Given the description of an element on the screen output the (x, y) to click on. 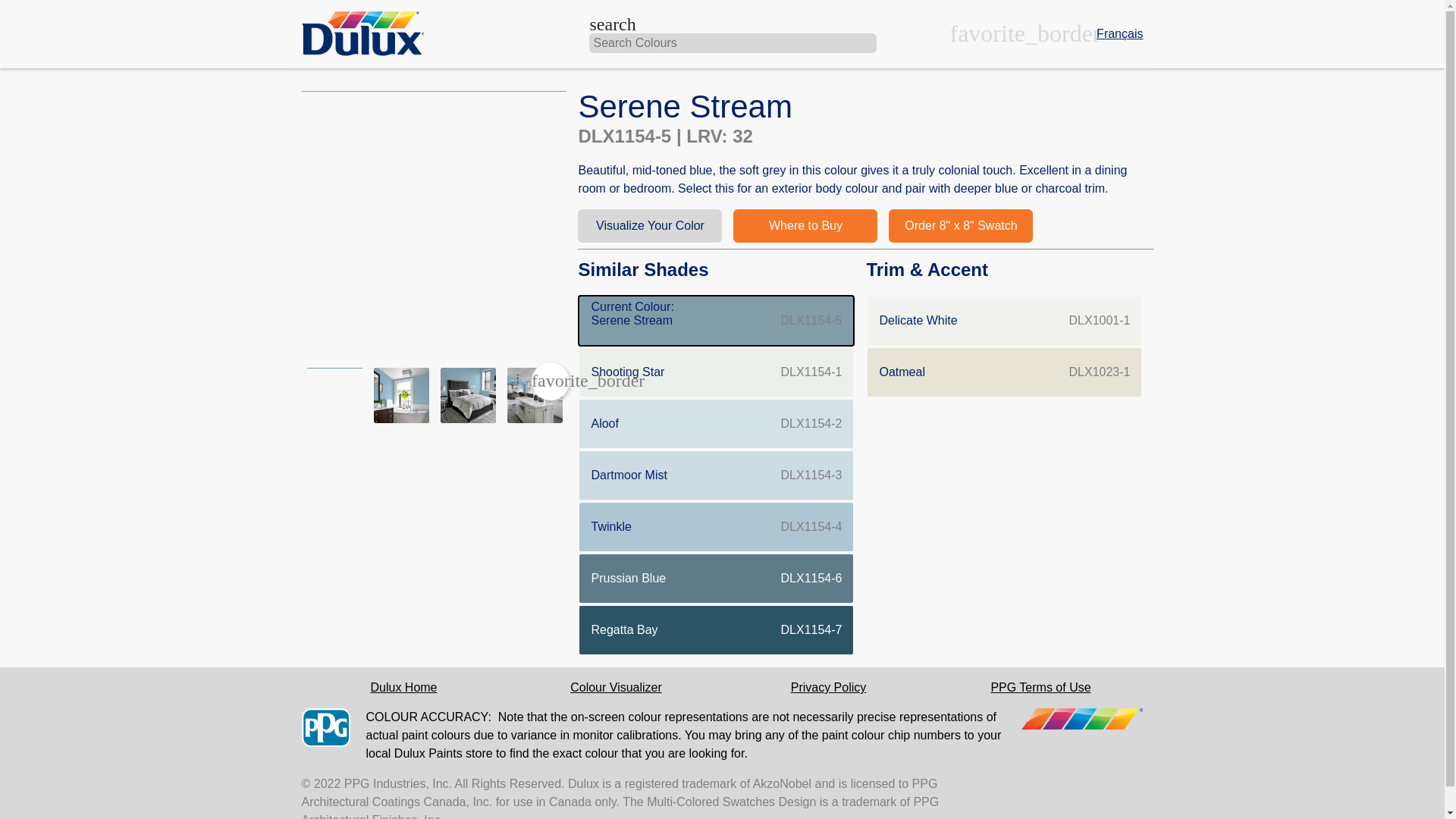
Colour Visualizer (716, 423)
Where to Buy (1004, 372)
Privacy Policy (615, 687)
Order 8" x 8" Swatch (805, 225)
Dulux Home (716, 578)
Visualize Your Color (828, 687)
PPG Terms of Use (960, 225)
